Given the description of an element on the screen output the (x, y) to click on. 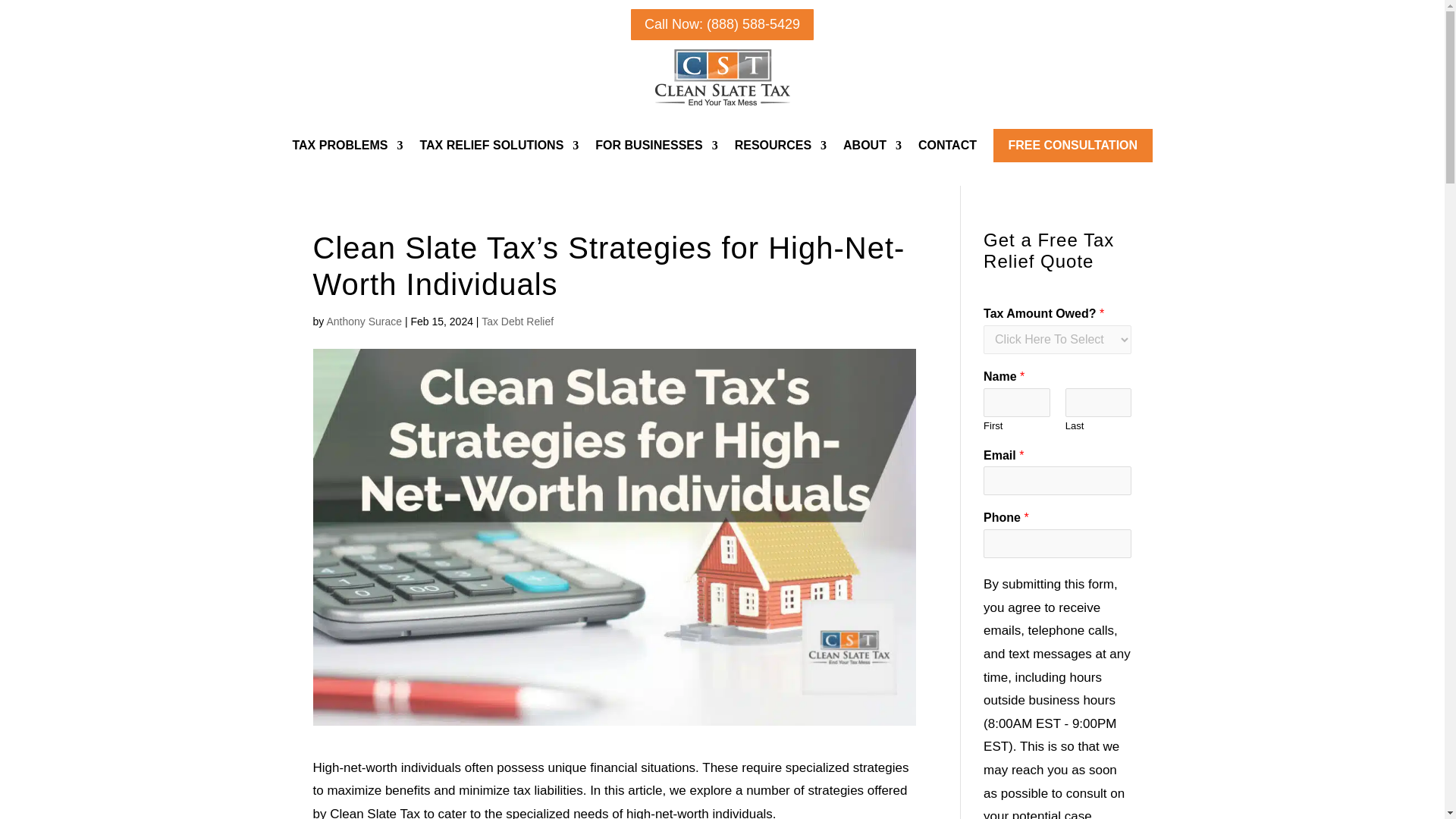
Posts by Anthony Surace (363, 321)
TAX PROBLEMS (347, 145)
Tax Services (498, 145)
Tax Problems (347, 145)
FOR BUSINESSES (656, 145)
TAX RELIEF SOLUTIONS (498, 145)
